Given the description of an element on the screen output the (x, y) to click on. 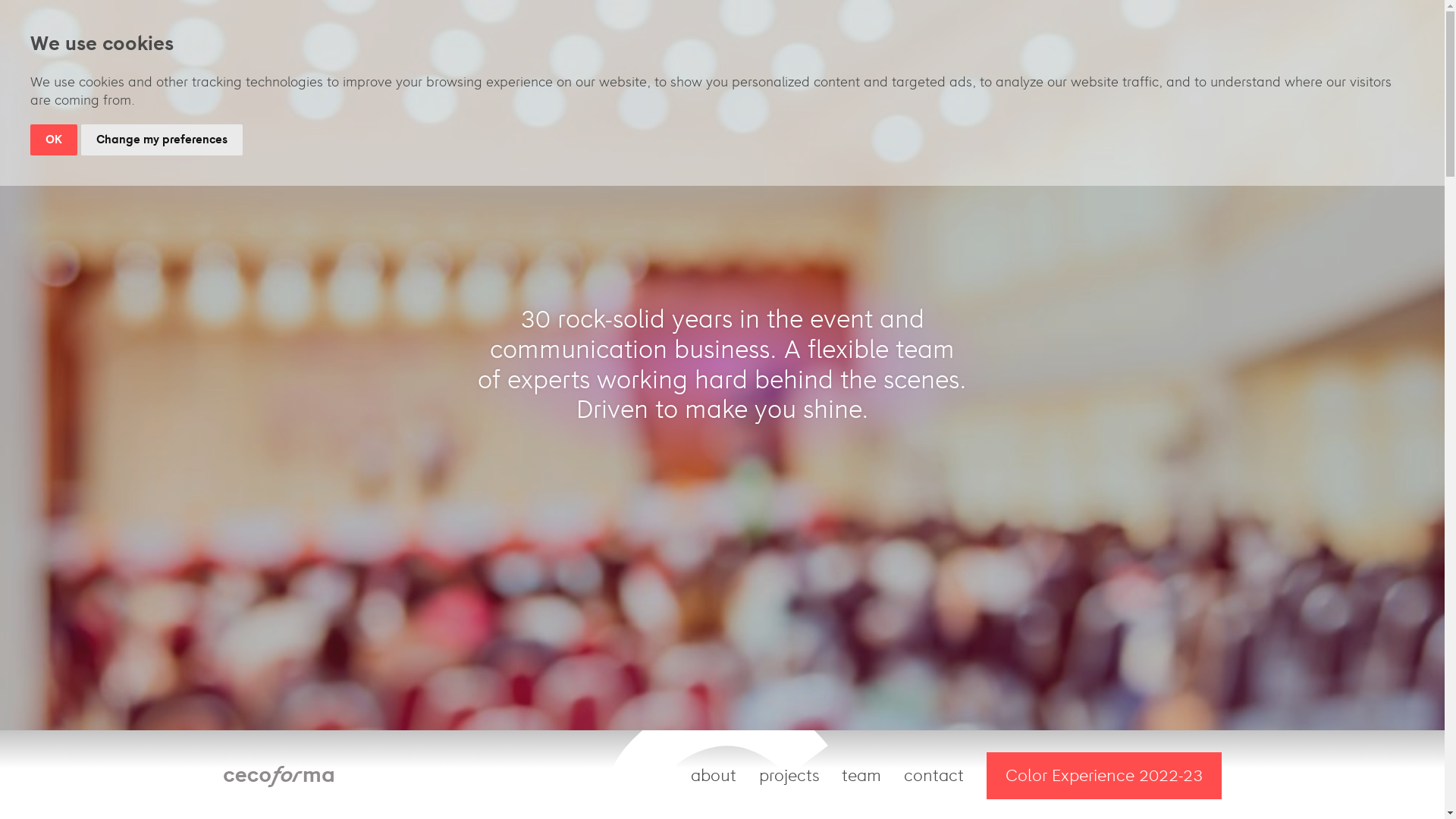
Color Experience 2022-23 Element type: text (1103, 775)
projects Element type: text (789, 775)
OK Element type: text (53, 139)
contact Element type: text (933, 775)
about Element type: text (713, 775)
cecoforma Element type: text (278, 774)
Change my preferences Element type: text (161, 139)
team Element type: text (861, 775)
